Given the description of an element on the screen output the (x, y) to click on. 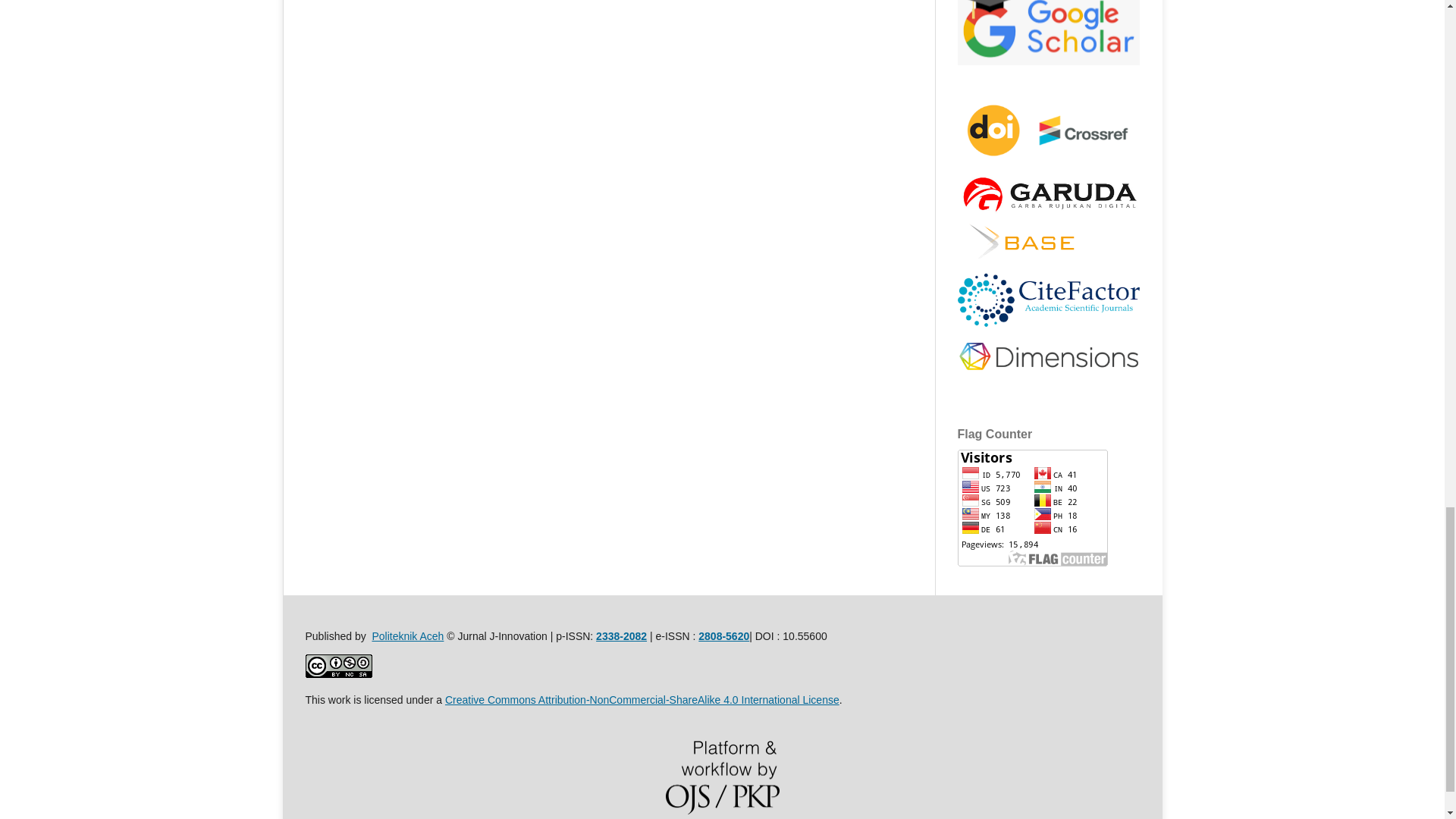
Garuda (1047, 214)
Crossref (1047, 164)
Dimensions (1047, 371)
J Innovation Versi Cetak (620, 635)
CiteFactor (1047, 328)
J Innovation Media Online (723, 635)
Google Sholar (1047, 61)
Base (1025, 257)
